Given the description of an element on the screen output the (x, y) to click on. 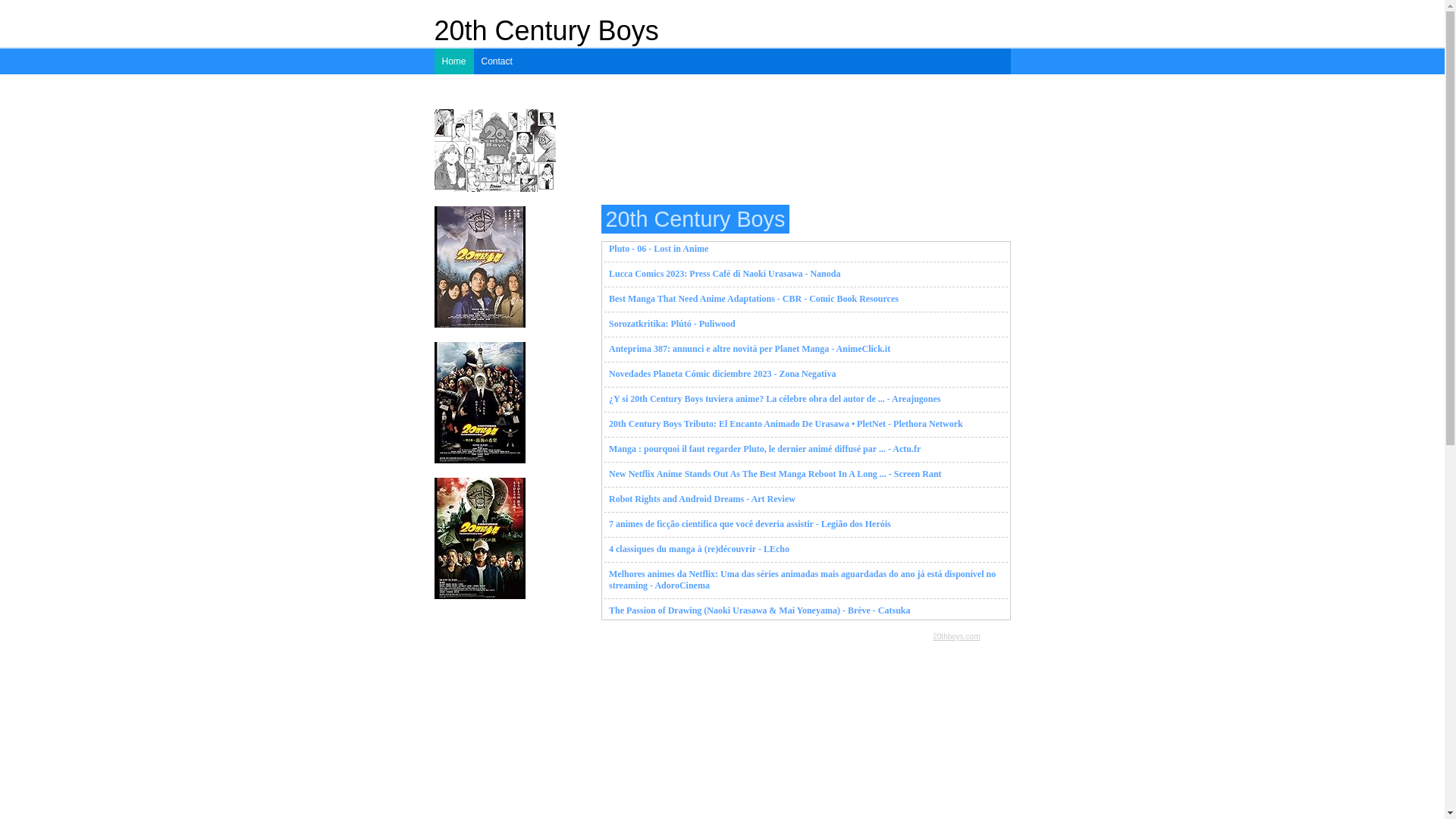
20thboys.com Element type: text (955, 636)
Home Element type: text (453, 61)
20th Century Boys Element type: text (545, 30)
Contact Element type: text (496, 61)
